Given the description of an element on the screen output the (x, y) to click on. 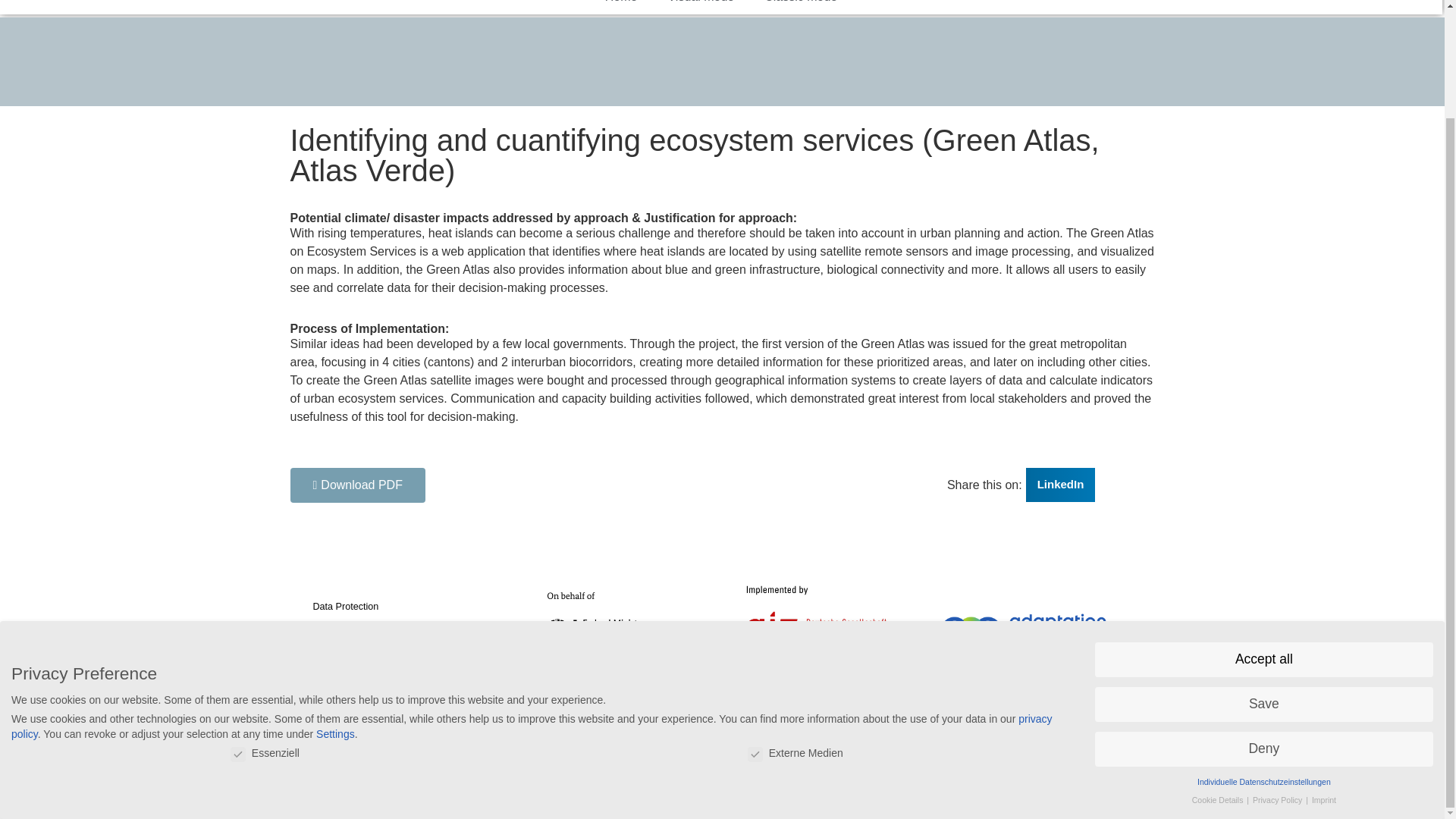
Settings (335, 607)
Home (620, 7)
Individuelle Datenschutzeinstellungen (1263, 655)
Cookie Details (1219, 673)
Classic mode (800, 7)
Registration Information (397, 654)
Download PDF (357, 484)
Save (1263, 577)
privacy policy (531, 599)
Disclaimer (397, 630)
Accept all (1263, 532)
Visual mode (700, 7)
Deny (1263, 622)
Imprint (1323, 673)
Privacy Policy (1278, 673)
